Given the description of an element on the screen output the (x, y) to click on. 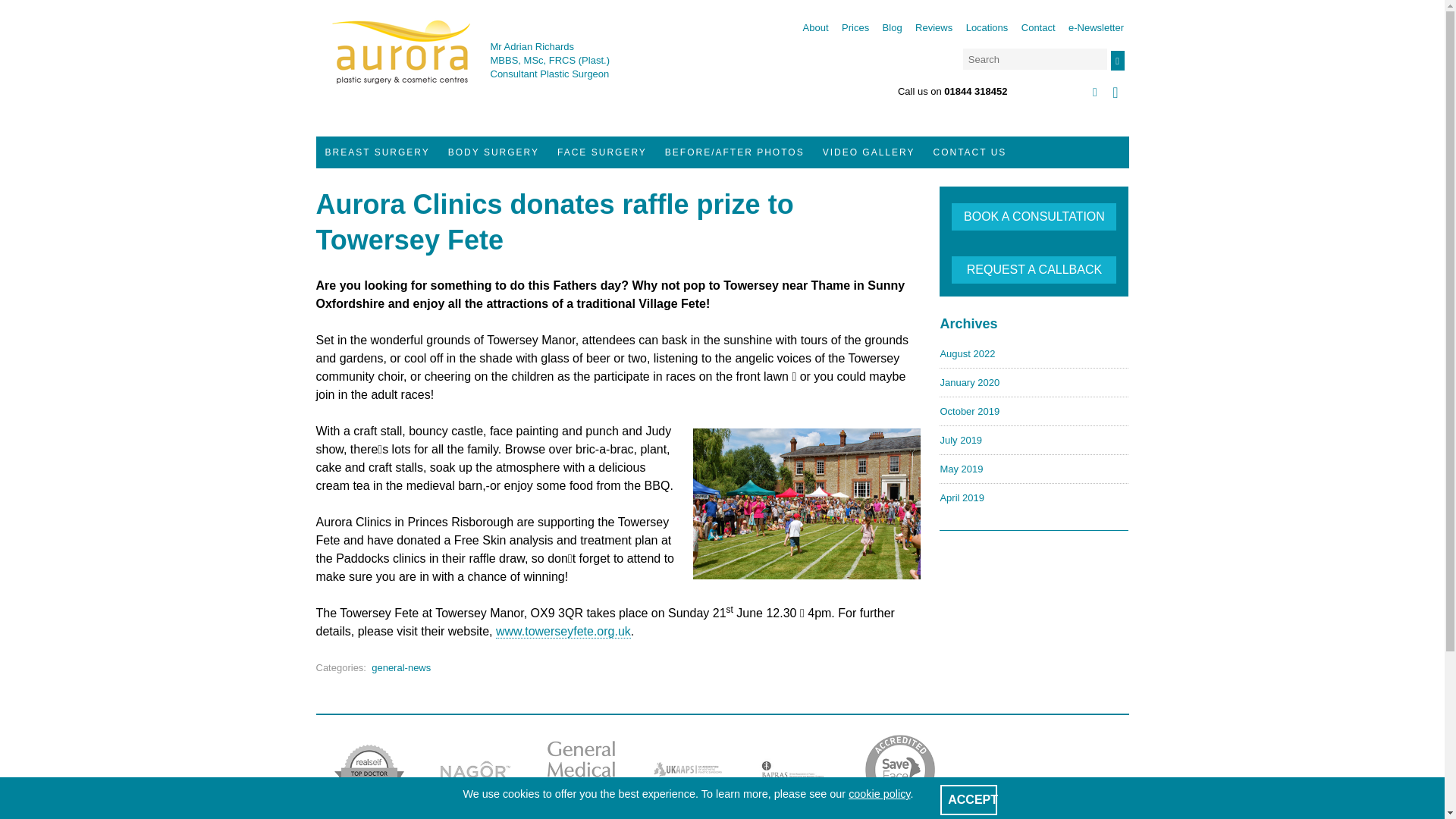
April 2019 (961, 497)
About (815, 27)
cookie policy (879, 793)
January 2020 (968, 382)
e-Newsletter (1096, 27)
BODY SURGERY (493, 152)
View all posts in general-news (400, 666)
July 2019 (960, 439)
May 2019 (960, 469)
www.towerseyfete.org.uk (563, 631)
